Given the description of an element on the screen output the (x, y) to click on. 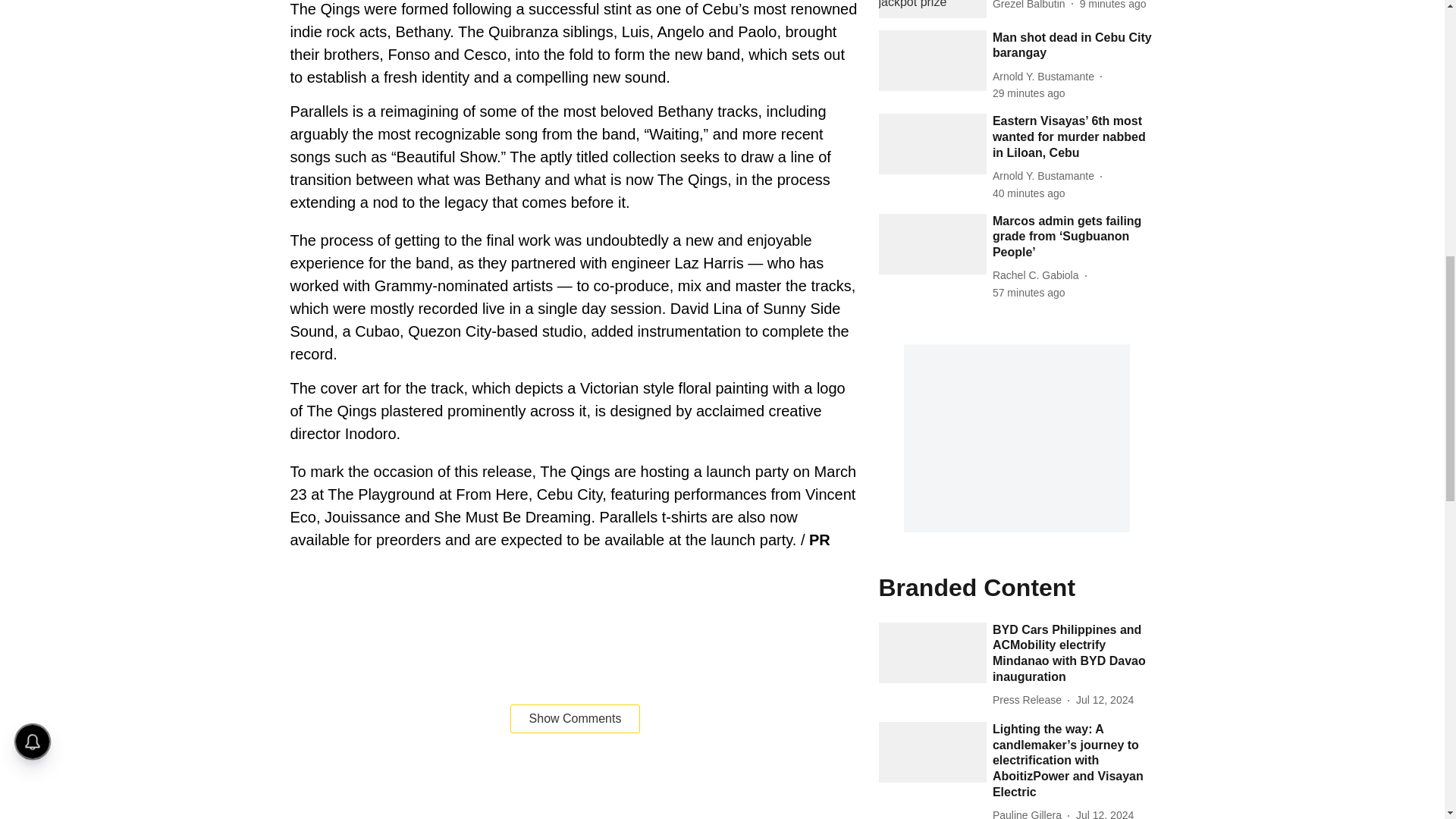
2024-07-12 07:00 (1104, 813)
Show Comments (575, 718)
2024-07-12 10:22 (1104, 700)
2024-07-19 08:24 (1113, 6)
2024-07-19 08:04 (1028, 93)
2024-07-19 07:36 (1028, 293)
2024-07-19 07:53 (1028, 193)
